Given the description of an element on the screen output the (x, y) to click on. 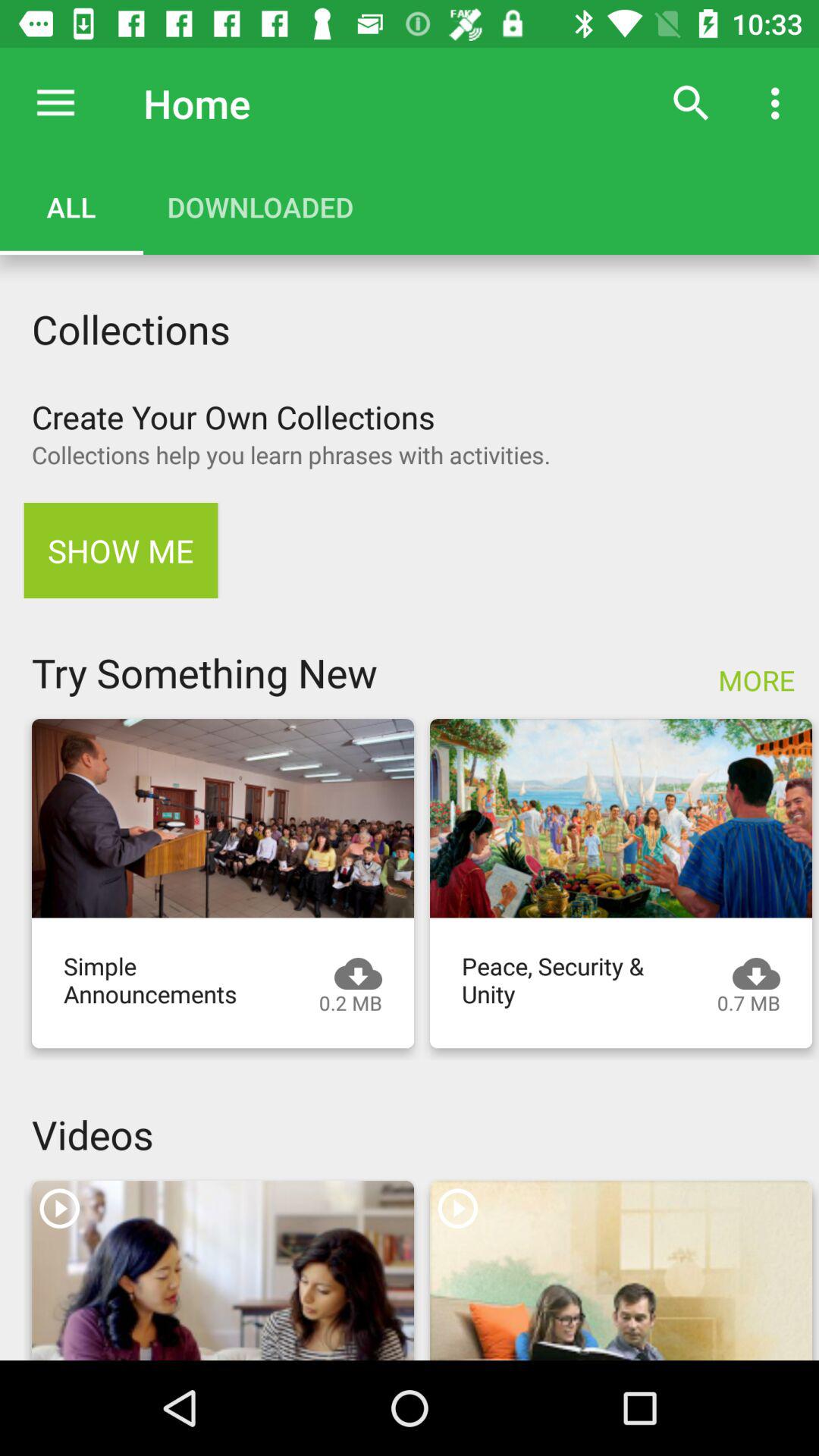
peace security unity download (620, 817)
